Given the description of an element on the screen output the (x, y) to click on. 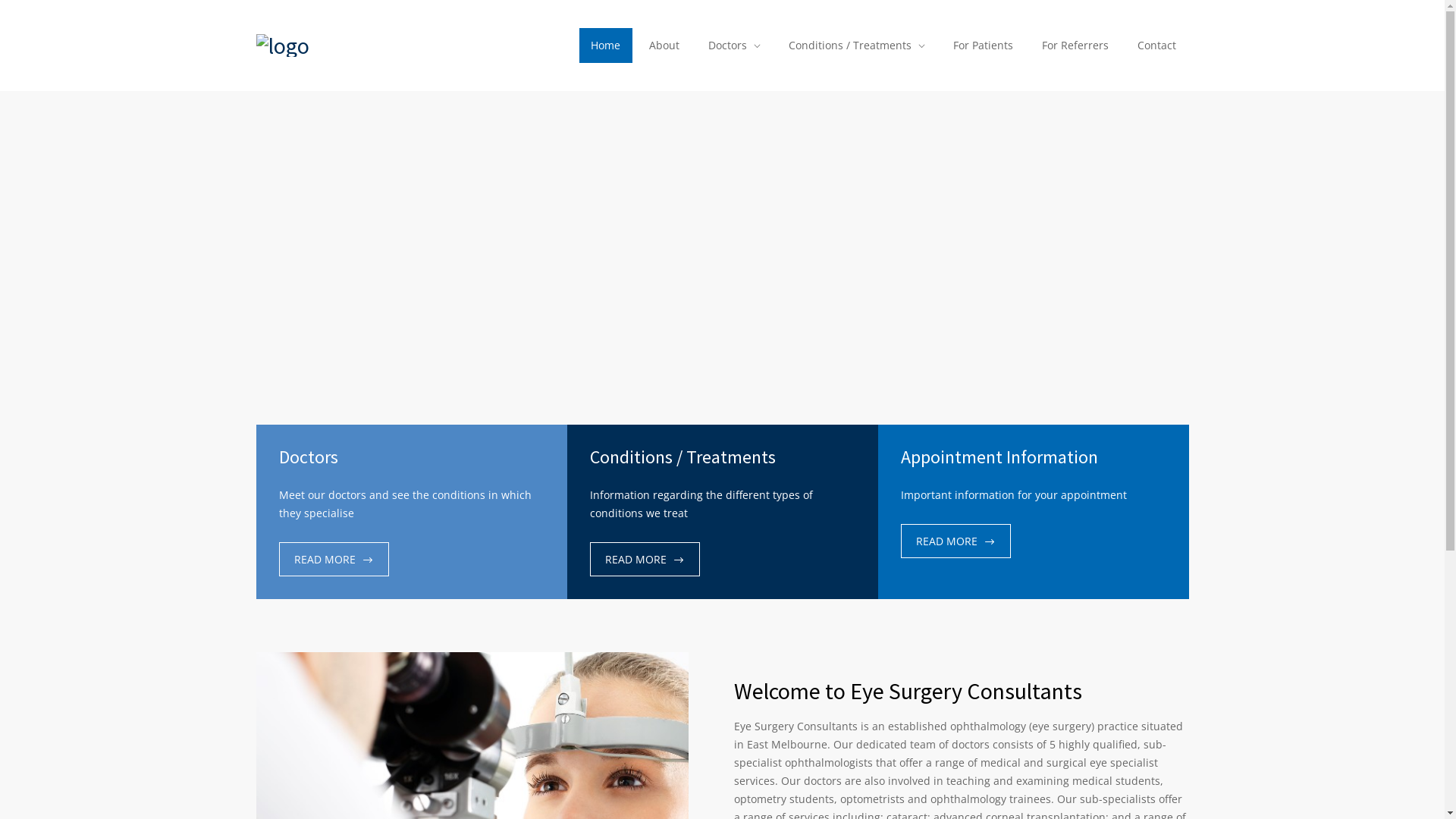
Conditions / Treatments Element type: text (856, 45)
Home Element type: text (604, 45)
READ MORE Element type: text (955, 541)
About Element type: text (664, 45)
For Referrers Element type: text (1075, 45)
READ MORE Element type: text (644, 559)
READ MORE Element type: text (334, 559)
Contact Element type: text (1157, 45)
For Patients Element type: text (982, 45)
Doctors Element type: text (734, 45)
